Given the description of an element on the screen output the (x, y) to click on. 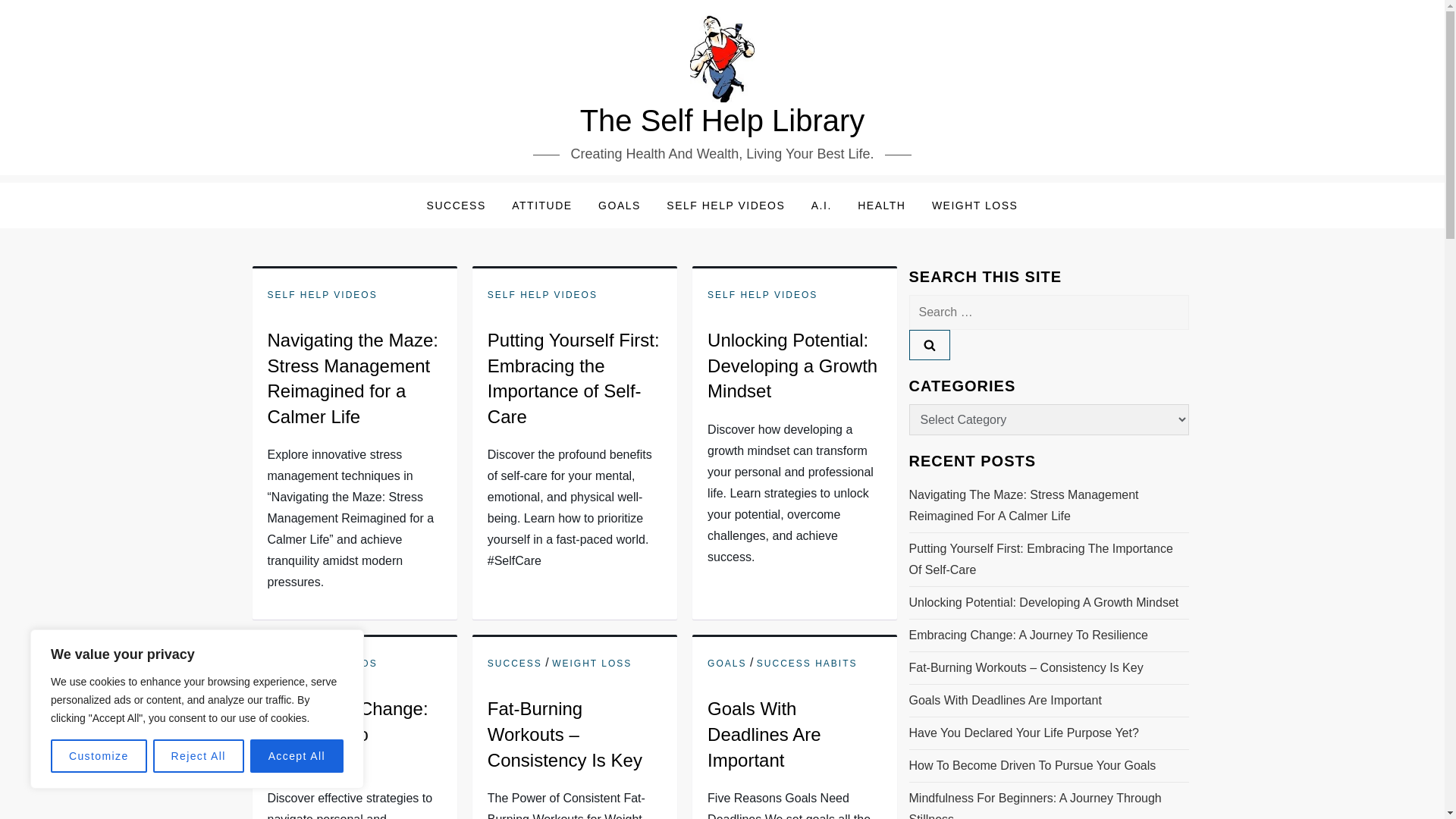
Customize (98, 756)
GOALS (726, 664)
SUCCESS HABITS (807, 664)
SUCCESS (514, 664)
WEIGHT LOSS (591, 664)
ATTITUDE (541, 205)
SELF HELP VIDEOS (725, 205)
WEIGHT LOSS (974, 205)
A.I. (821, 205)
